Given the description of an element on the screen output the (x, y) to click on. 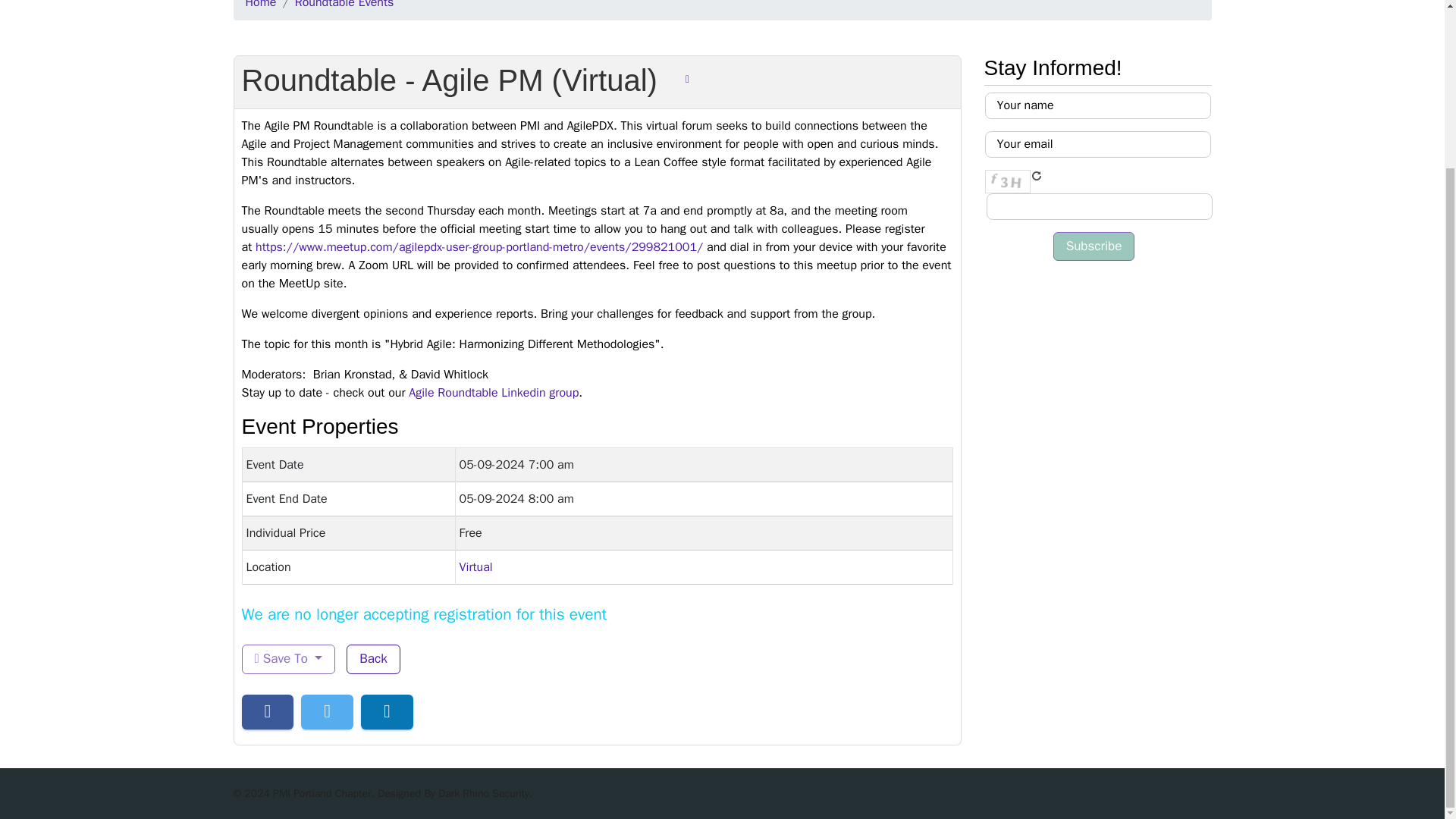
Your name (1096, 105)
Virtual (476, 566)
Subscribe (1093, 246)
Your email (1096, 144)
Your email (1096, 144)
Your name (1096, 105)
The captcha is invalid, please try again (1006, 181)
The captcha is invalid, please try again (1098, 206)
